Given the description of an element on the screen output the (x, y) to click on. 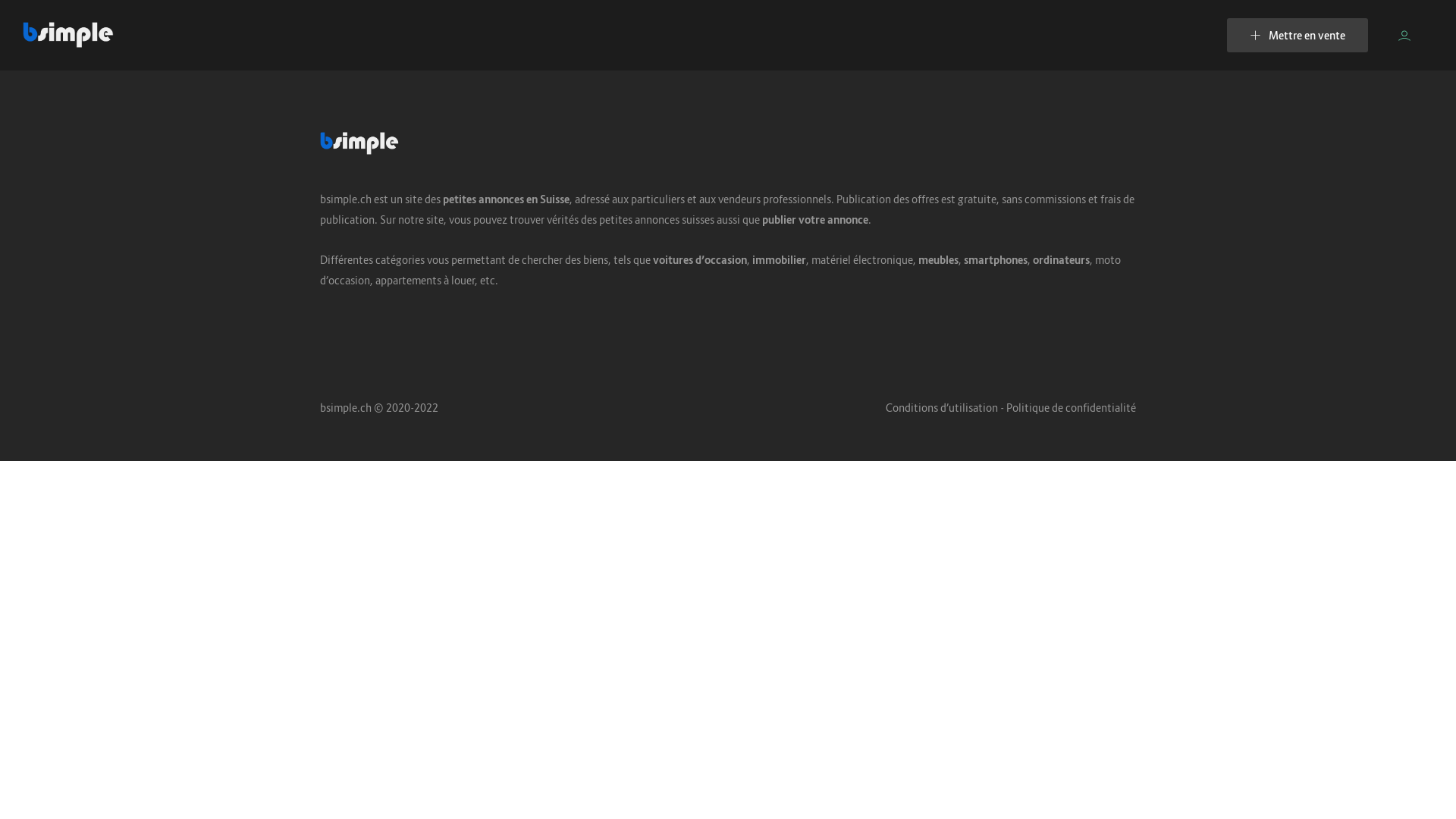
Mettre en vente Element type: text (1297, 35)
publier votre annonce Element type: text (815, 219)
smartphones Element type: text (995, 259)
meubles Element type: text (938, 259)
Signe Dans Element type: hover (1404, 34)
immobilier Element type: text (779, 259)
ordinateurs Element type: text (1060, 259)
